Given the description of an element on the screen output the (x, y) to click on. 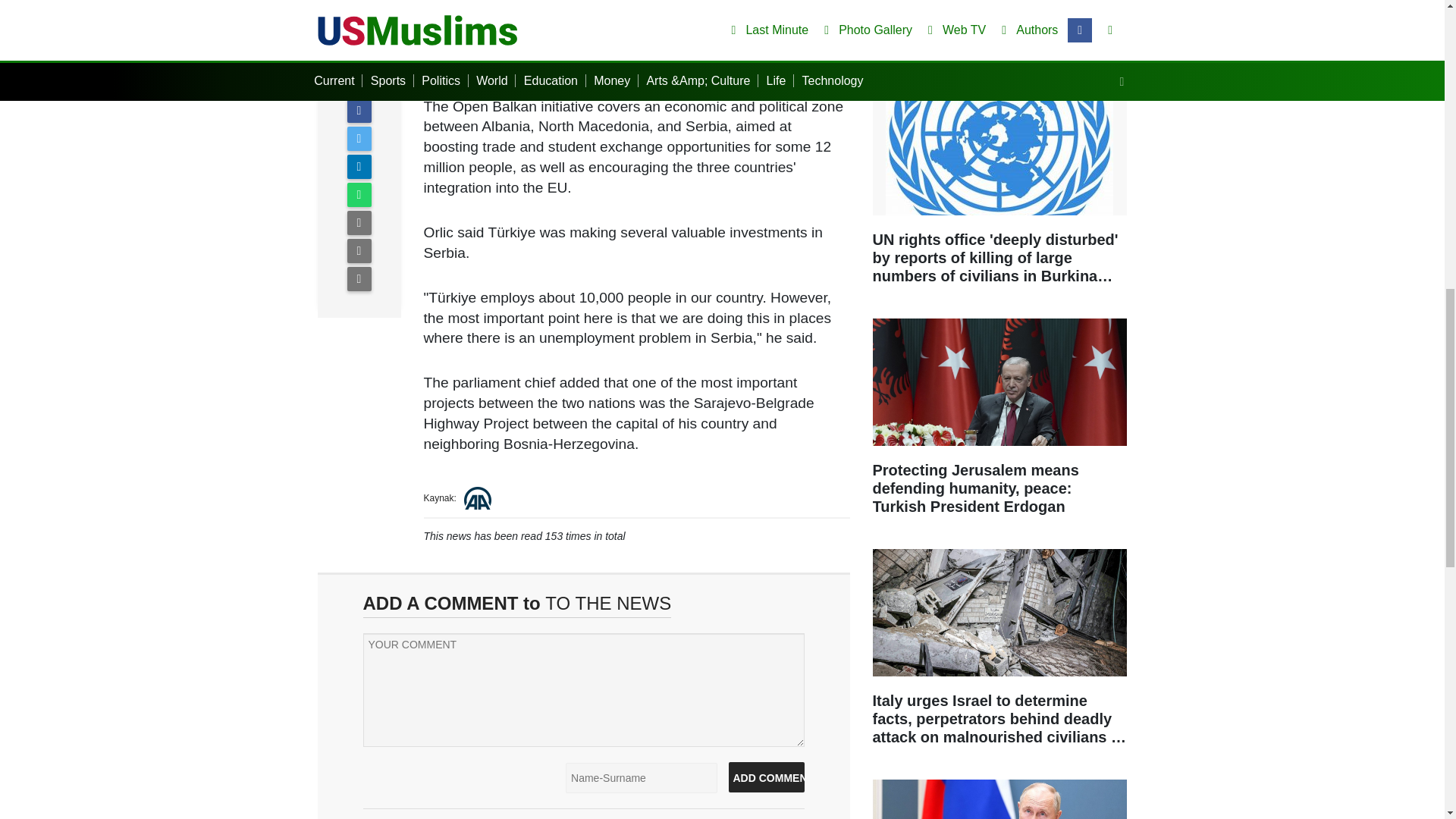
ADD COMMENT (765, 777)
ADD COMMENT (765, 777)
Kremlin says it will closely follow Biden, Zelenskyy meeting (999, 799)
